Given the description of an element on the screen output the (x, y) to click on. 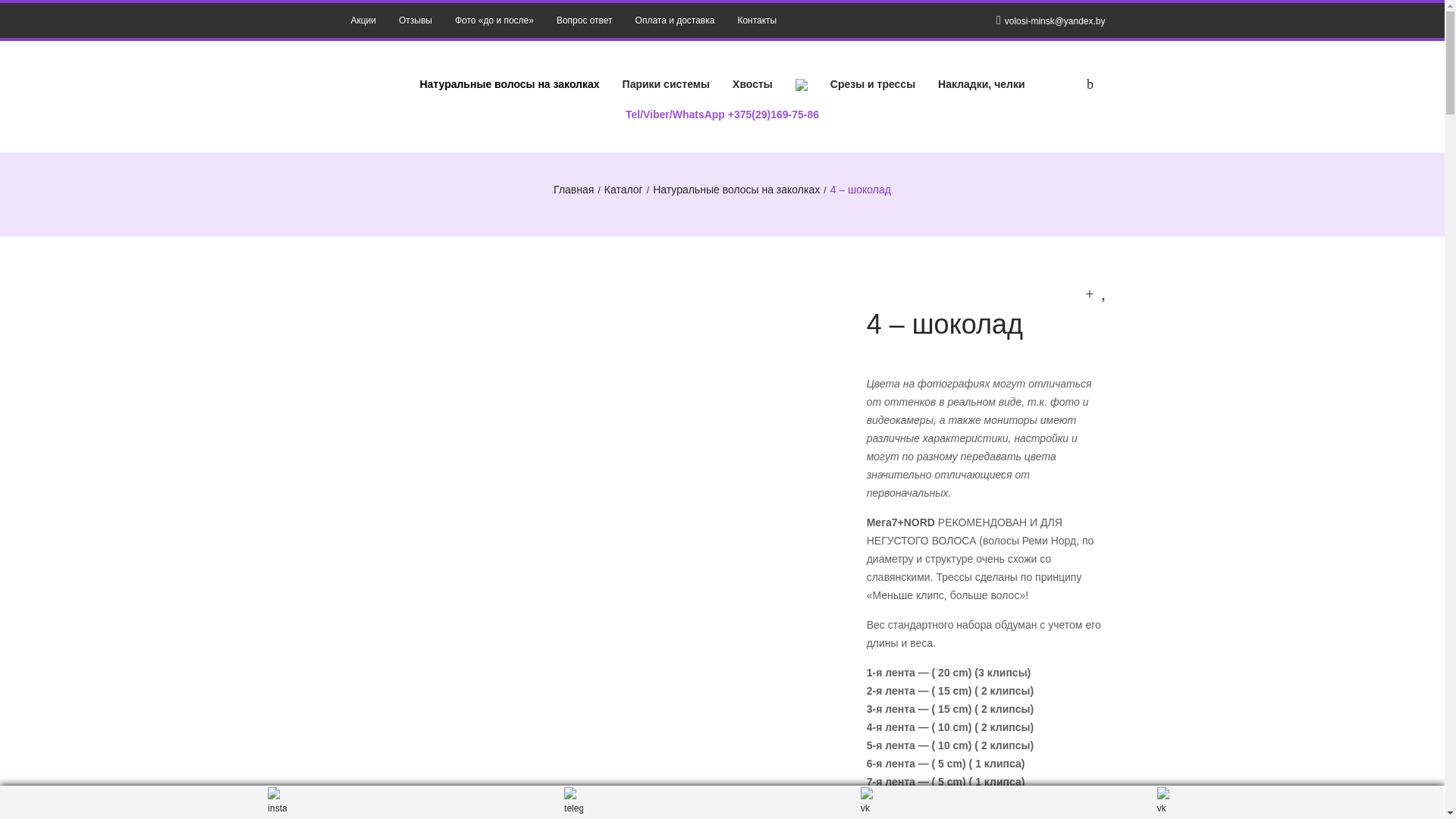
Tel/Viber/WhatsApp +375(29)169-75-86 Element type: text (722, 114)
